Given the description of an element on the screen output the (x, y) to click on. 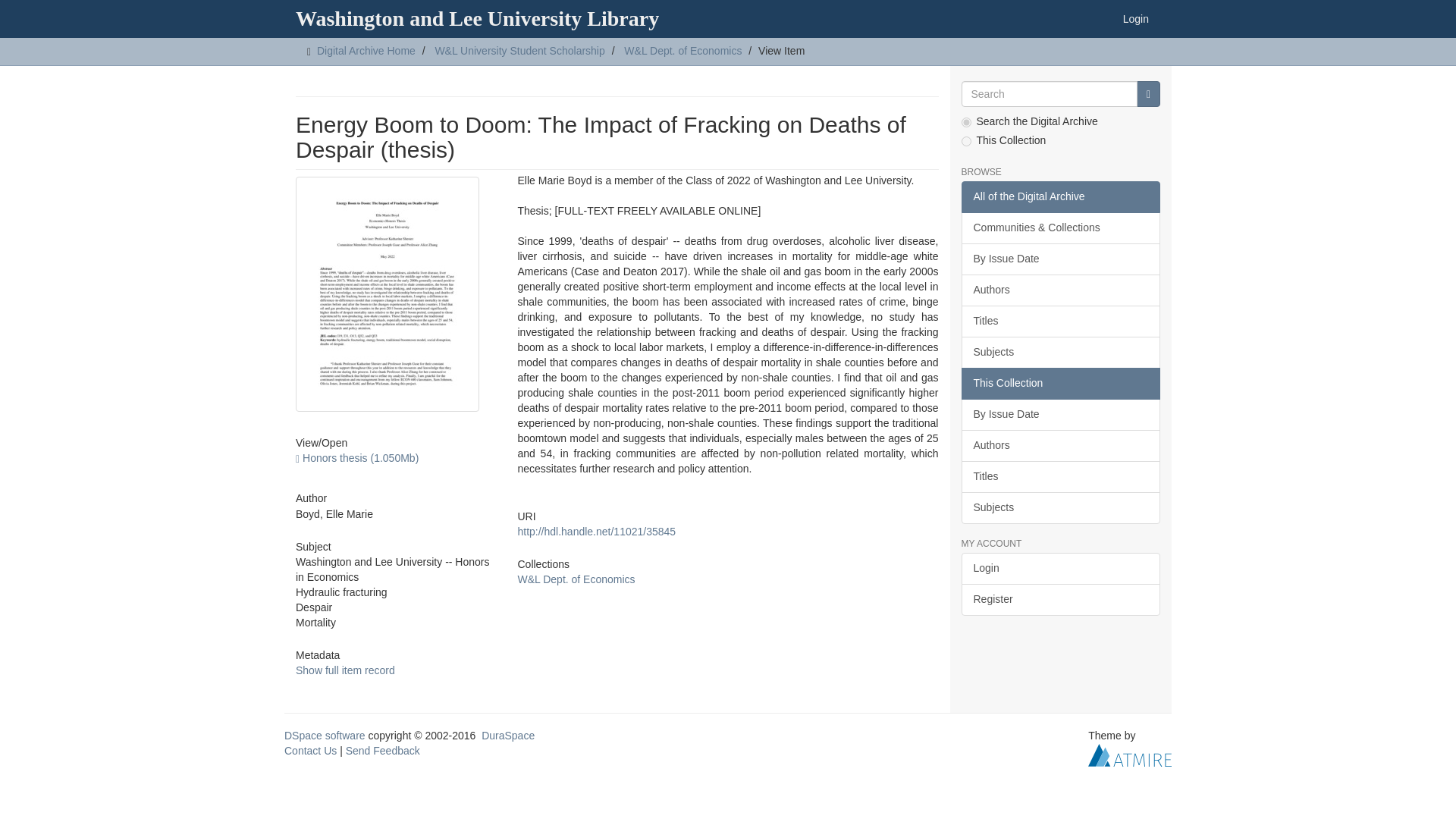
Atmire NV (1129, 754)
This Collection (1060, 383)
Titles (1060, 321)
Go (1148, 94)
Authors (1060, 290)
DuraSpace (507, 735)
Login (1136, 18)
All of the Digital Archive (1060, 196)
By Issue Date (1060, 259)
Contact Us (309, 750)
